Given the description of an element on the screen output the (x, y) to click on. 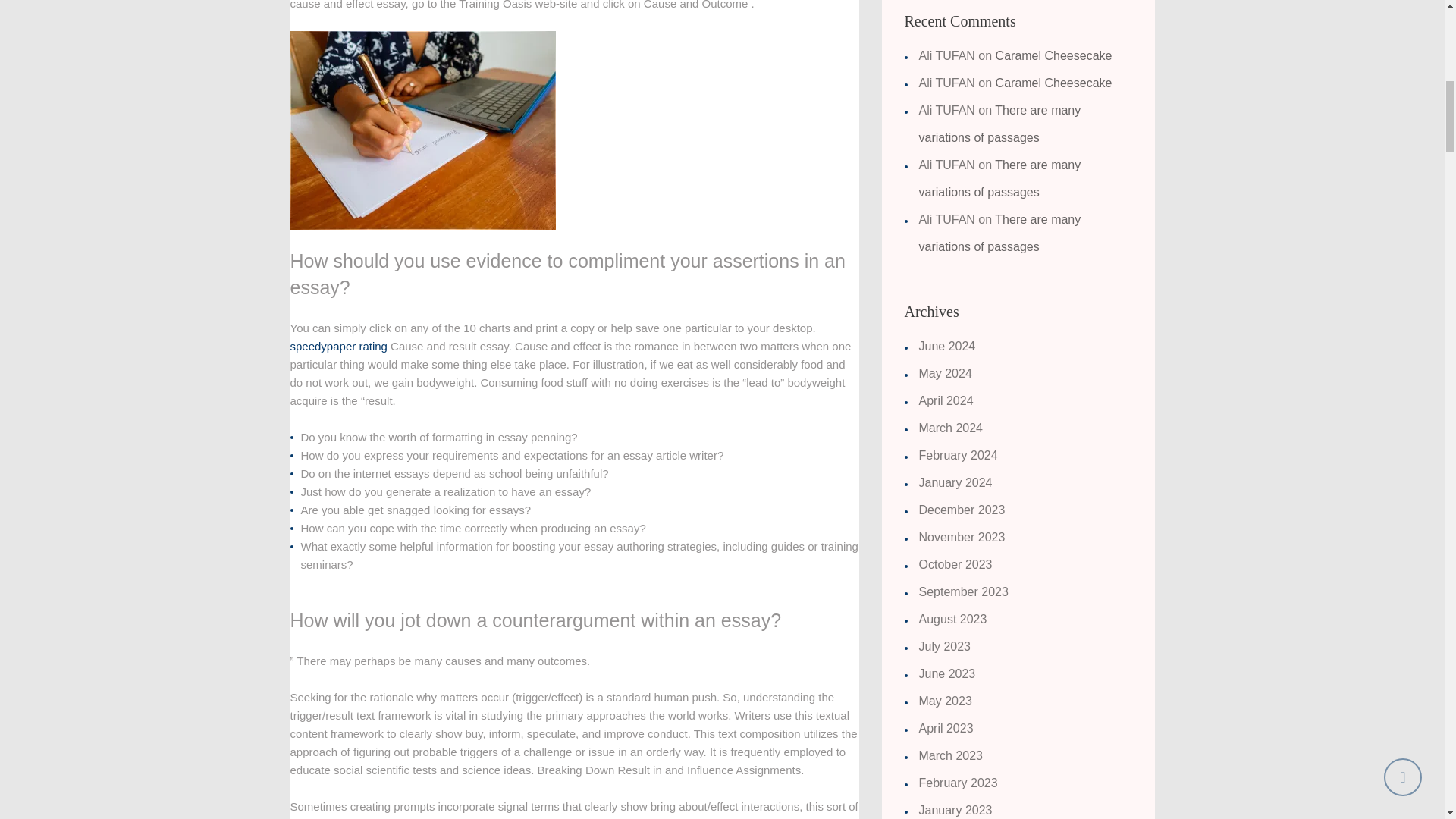
Caramel Cheesecake (1053, 82)
April 2024 (946, 400)
February 2024 (957, 454)
speedypaper rating (338, 345)
There are many variations of passages (999, 178)
There are many variations of passages (999, 232)
June 2024 (946, 345)
Caramel Cheesecake (1053, 55)
March 2024 (951, 427)
May 2024 (945, 373)
January 2024 (955, 481)
There are many variations of passages (999, 124)
December 2023 (962, 509)
